Given the description of an element on the screen output the (x, y) to click on. 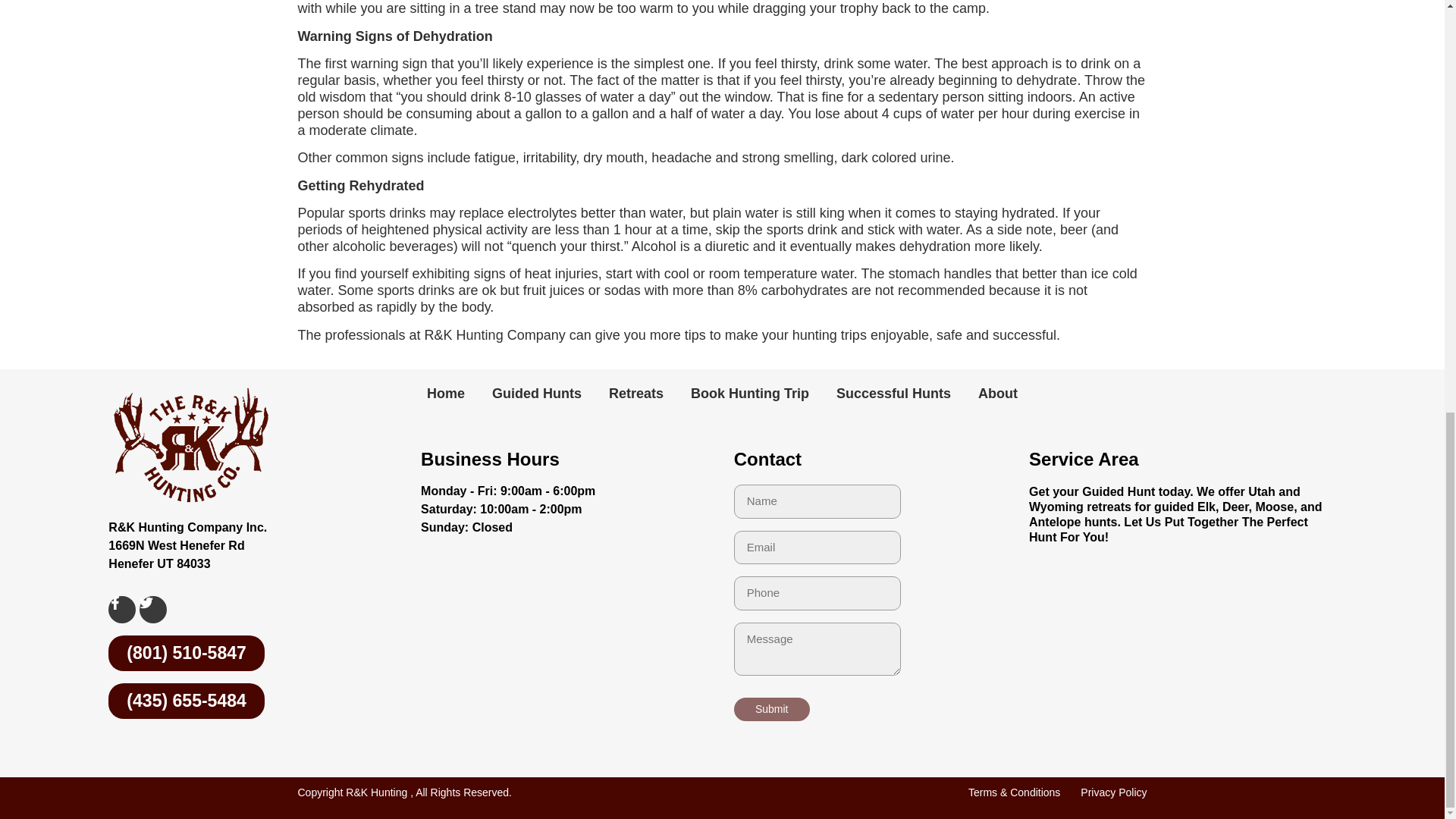
Submit (771, 709)
